Given the description of an element on the screen output the (x, y) to click on. 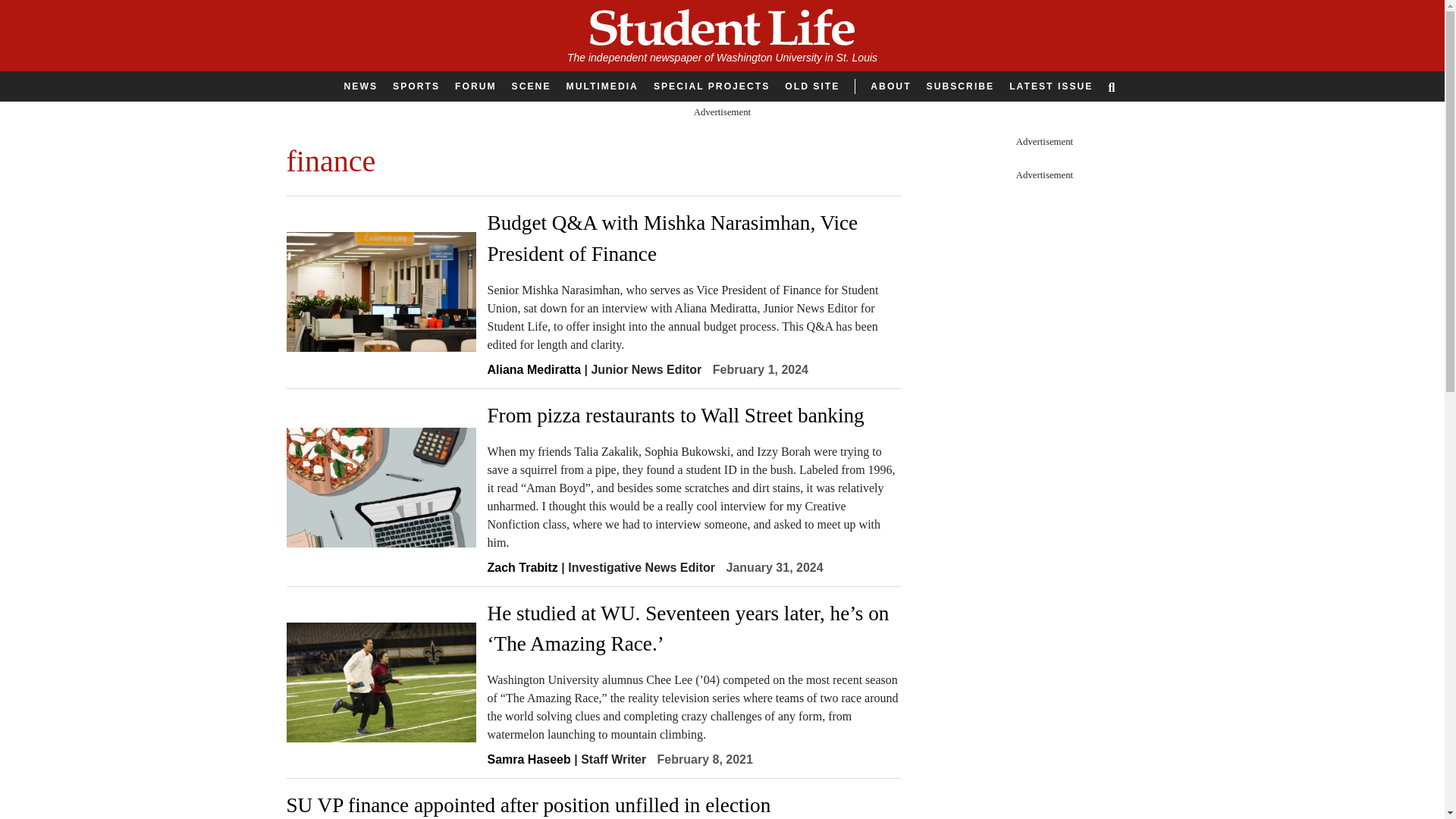
Zach Trabitz (521, 567)
LATEST ISSUE (1050, 86)
NEWS (360, 86)
Samra Haseeb (528, 758)
FORUM (474, 86)
MULTIMEDIA (601, 86)
From pizza restaurants to Wall Street banking (692, 415)
Articles by Aliana Mediratta (533, 369)
OLD SITE (812, 86)
Aliana Mediratta (533, 369)
SPORTS (415, 86)
SUBSCRIBE (960, 86)
SU VP finance appointed after position unfilled in election (593, 804)
Articles by Zach Trabitz (521, 567)
SCENE (531, 86)
